Given the description of an element on the screen output the (x, y) to click on. 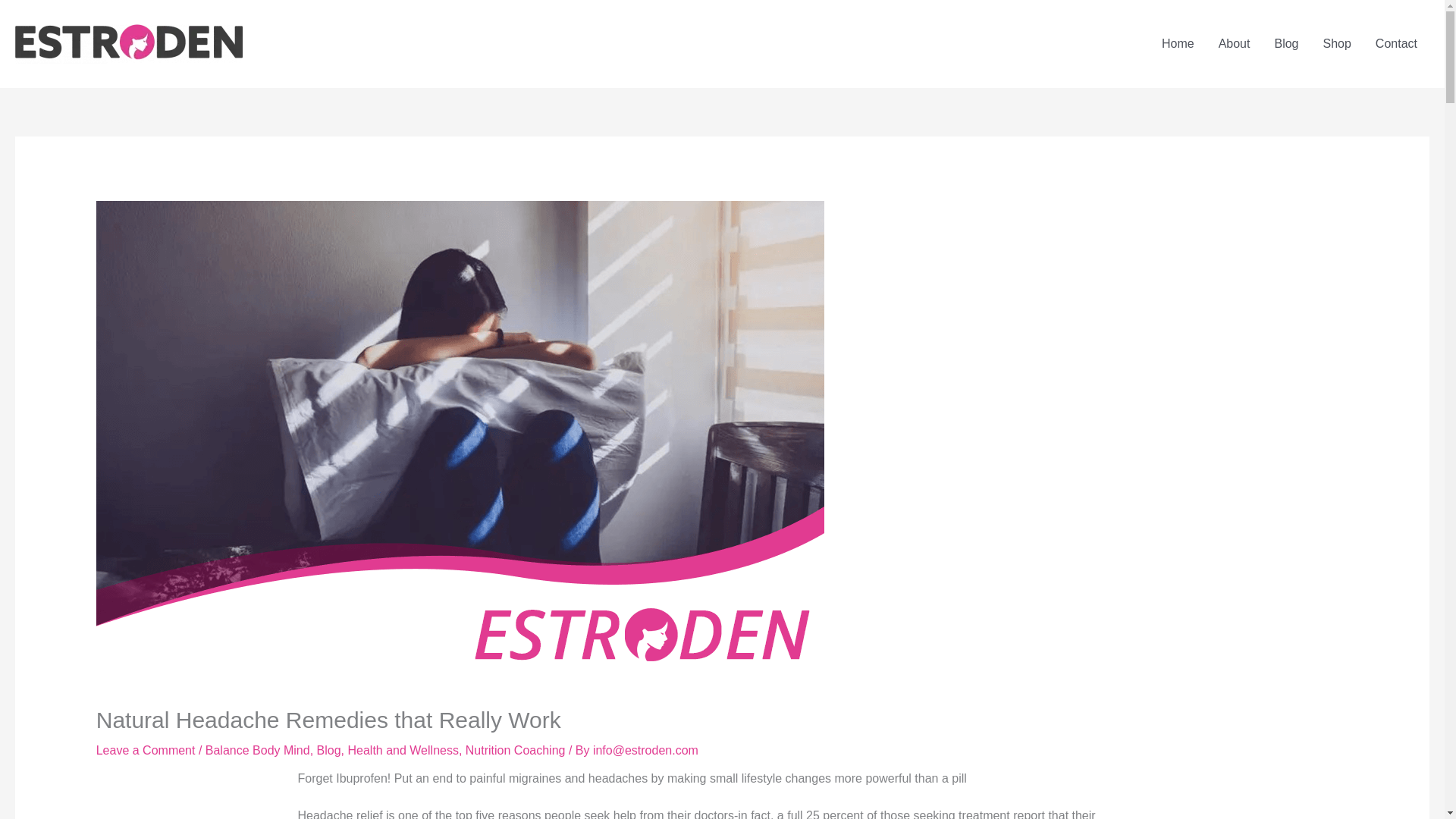
Leave a Comment (145, 749)
Contact (1395, 43)
About (1234, 43)
Balance Body Mind (257, 749)
Blog (1286, 43)
Home (1178, 43)
Nutrition Coaching (515, 749)
Blog (328, 749)
Shop (1336, 43)
Health and Wellness (402, 749)
